Given the description of an element on the screen output the (x, y) to click on. 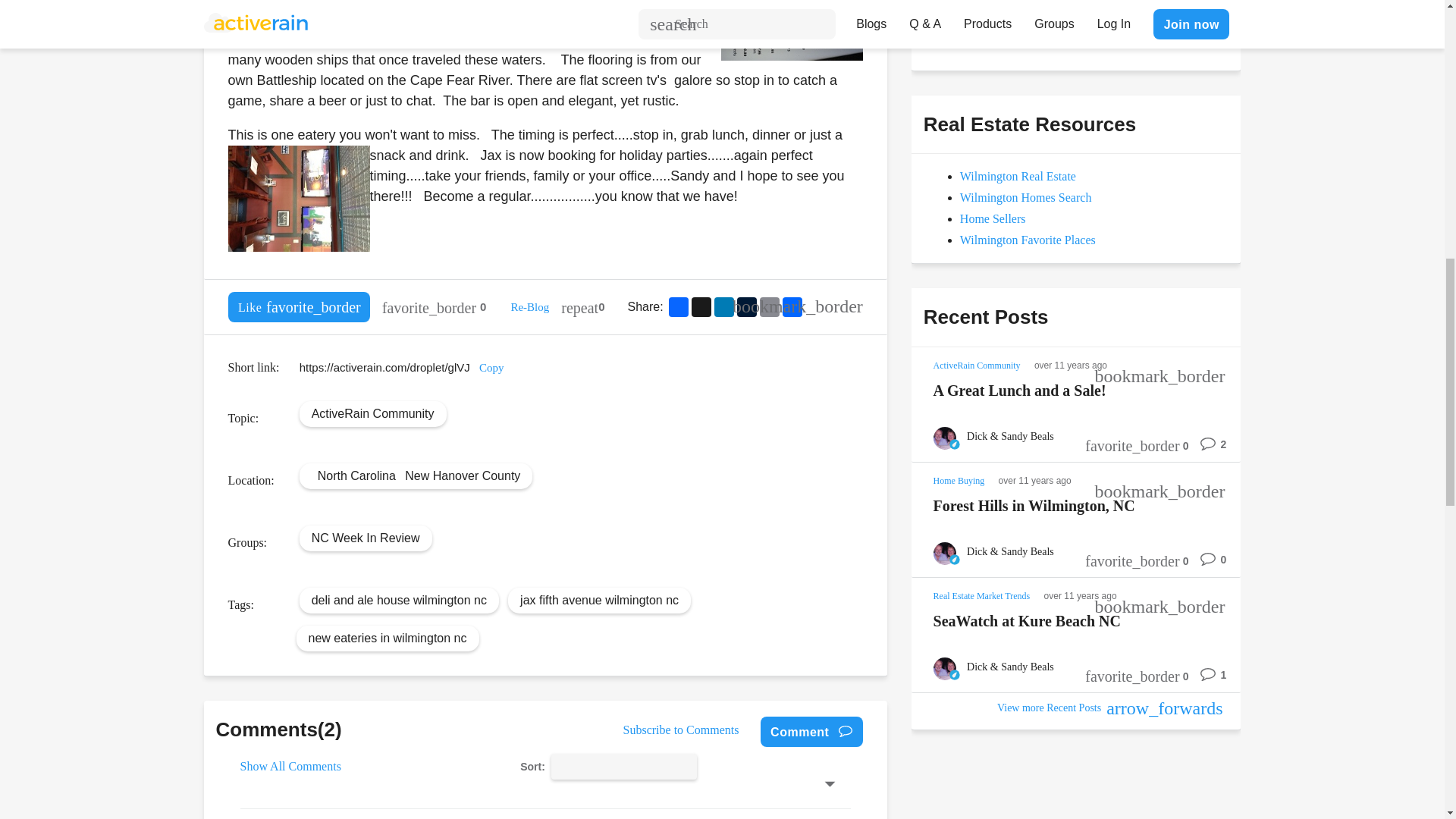
repeat 0 (582, 306)
ActiveRain Community (372, 412)
Facebook (678, 306)
Wilmington Favorite Places (1027, 239)
LinkedIn (724, 306)
deli and ale house wilmington nc (398, 599)
NC Week In Review (365, 536)
Send Message (978, 30)
Share (791, 306)
Wilmington Homes Search (1025, 196)
